Given the description of an element on the screen output the (x, y) to click on. 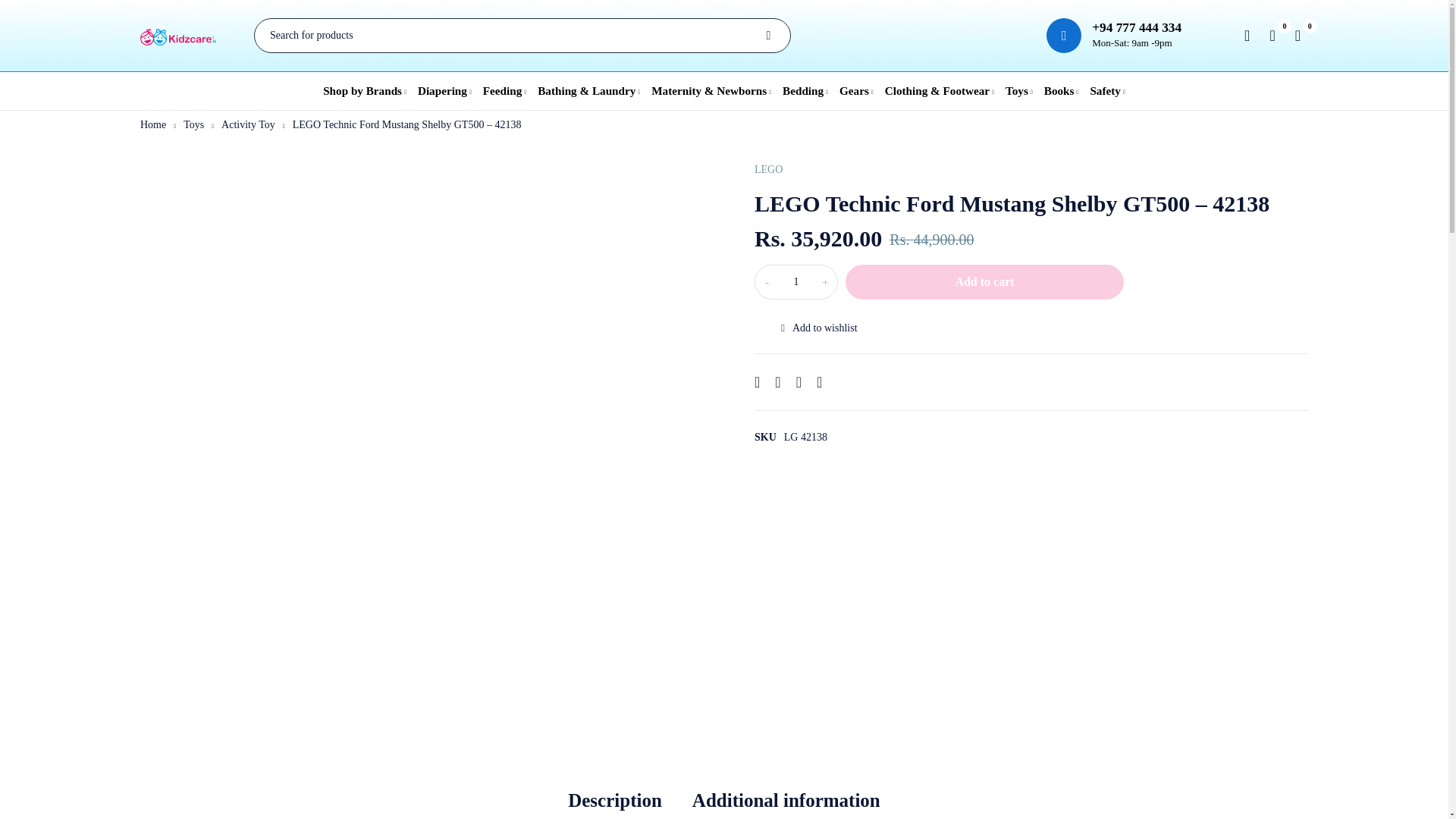
1 (796, 281)
KidzCare.LK (177, 36)
Search (767, 35)
Shop by Brands (364, 90)
Search (767, 35)
